Given the description of an element on the screen output the (x, y) to click on. 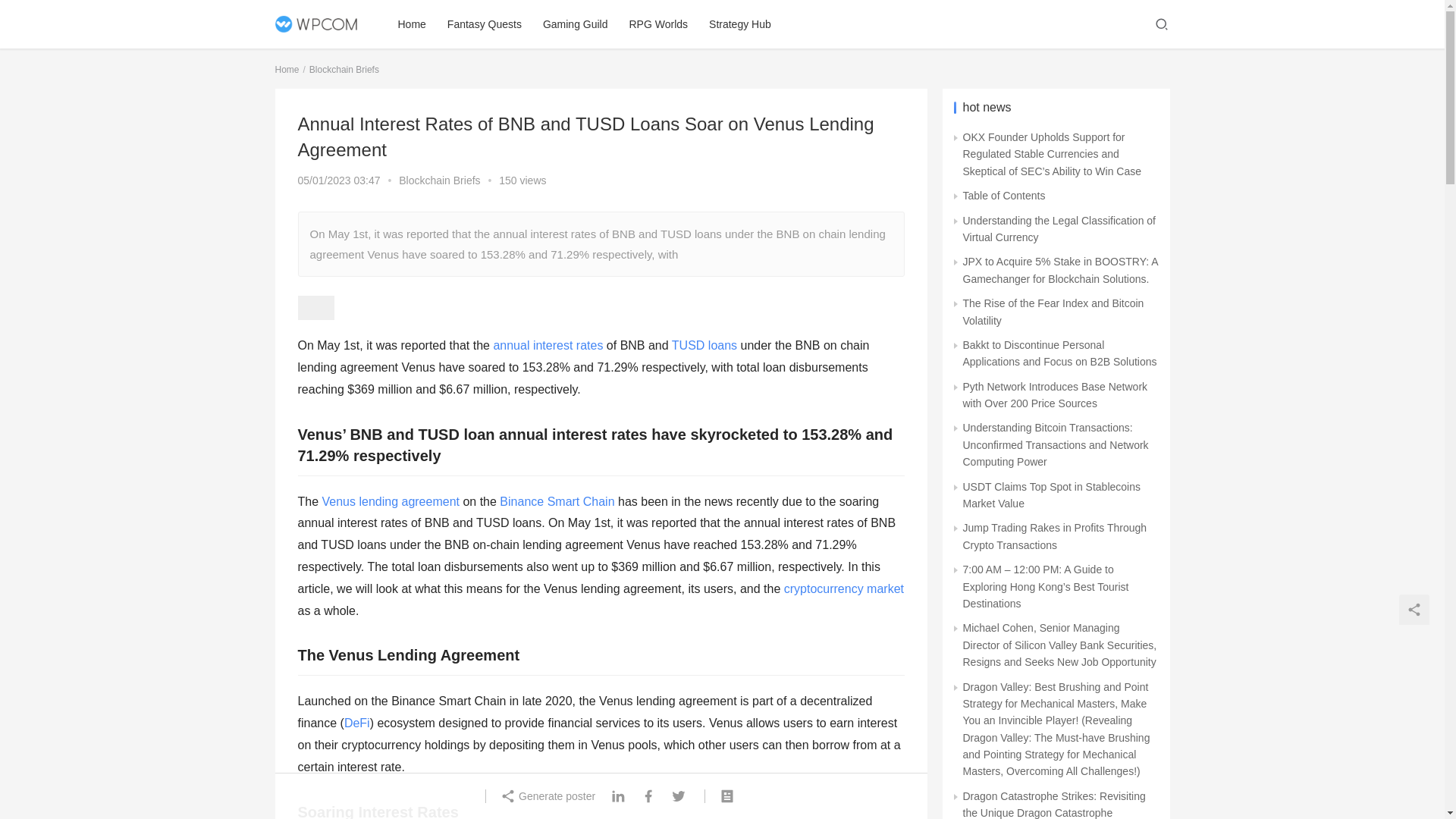
Blockchain Briefs (439, 180)
cryptocurrency market (844, 588)
Binance Smart Chain (556, 501)
Home (286, 69)
DeFi (356, 722)
TUSD loans (703, 345)
Strategy Hub (739, 24)
Blockchain Briefs (343, 69)
annual interest rates (547, 345)
Venus lending agreement (390, 501)
